Given the description of an element on the screen output the (x, y) to click on. 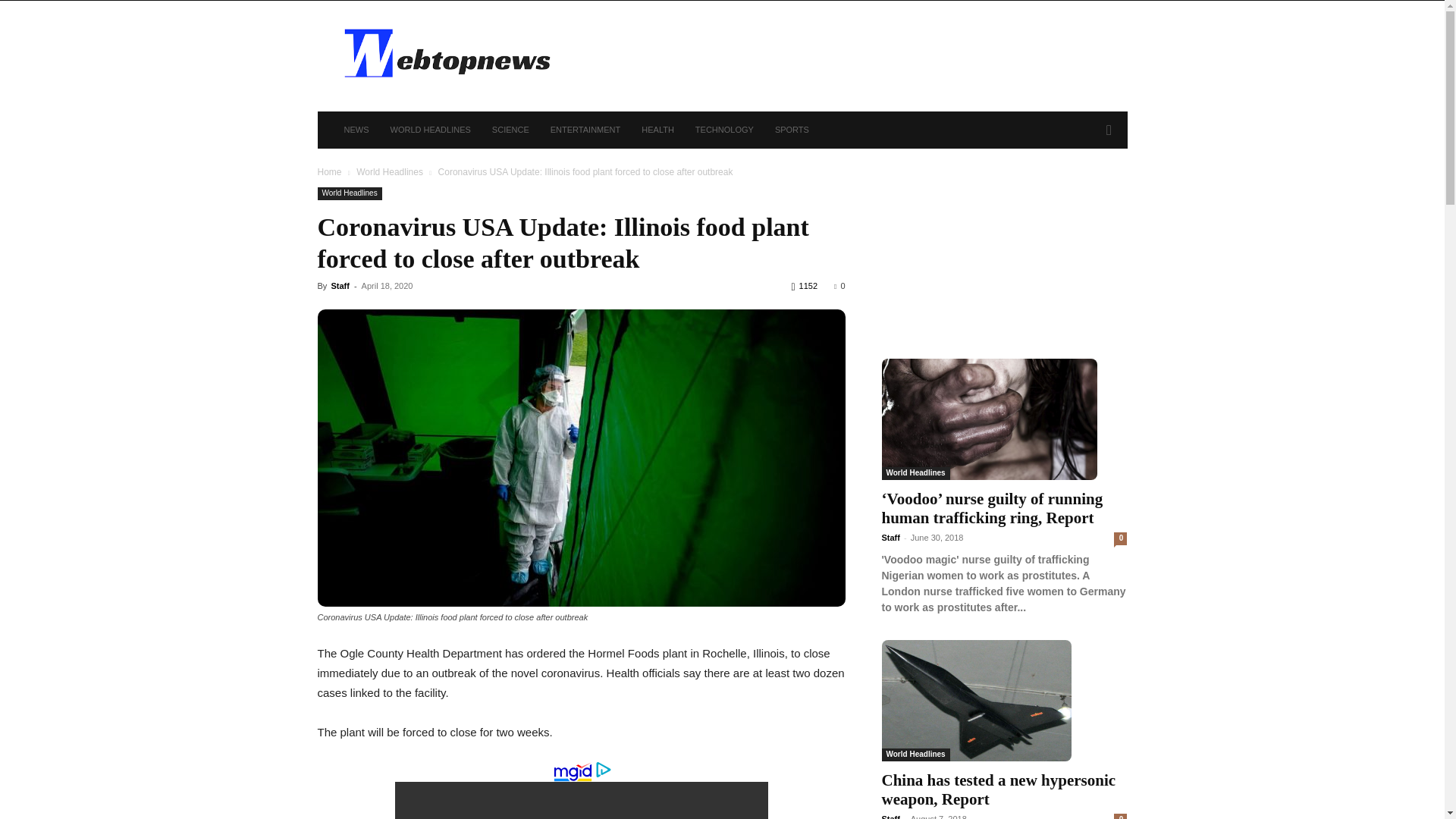
0 (839, 285)
SCIENCE (510, 129)
ENTERTAINMENT (585, 129)
World Headlines (349, 193)
Staff (339, 285)
NEWS (356, 129)
Home (328, 172)
SPORTS (791, 129)
TECHNOLOGY (724, 129)
HEALTH (657, 129)
Search (1085, 191)
View all posts in World Headlines (389, 172)
WORLD HEADLINES (429, 129)
World Headlines (389, 172)
